Given the description of an element on the screen output the (x, y) to click on. 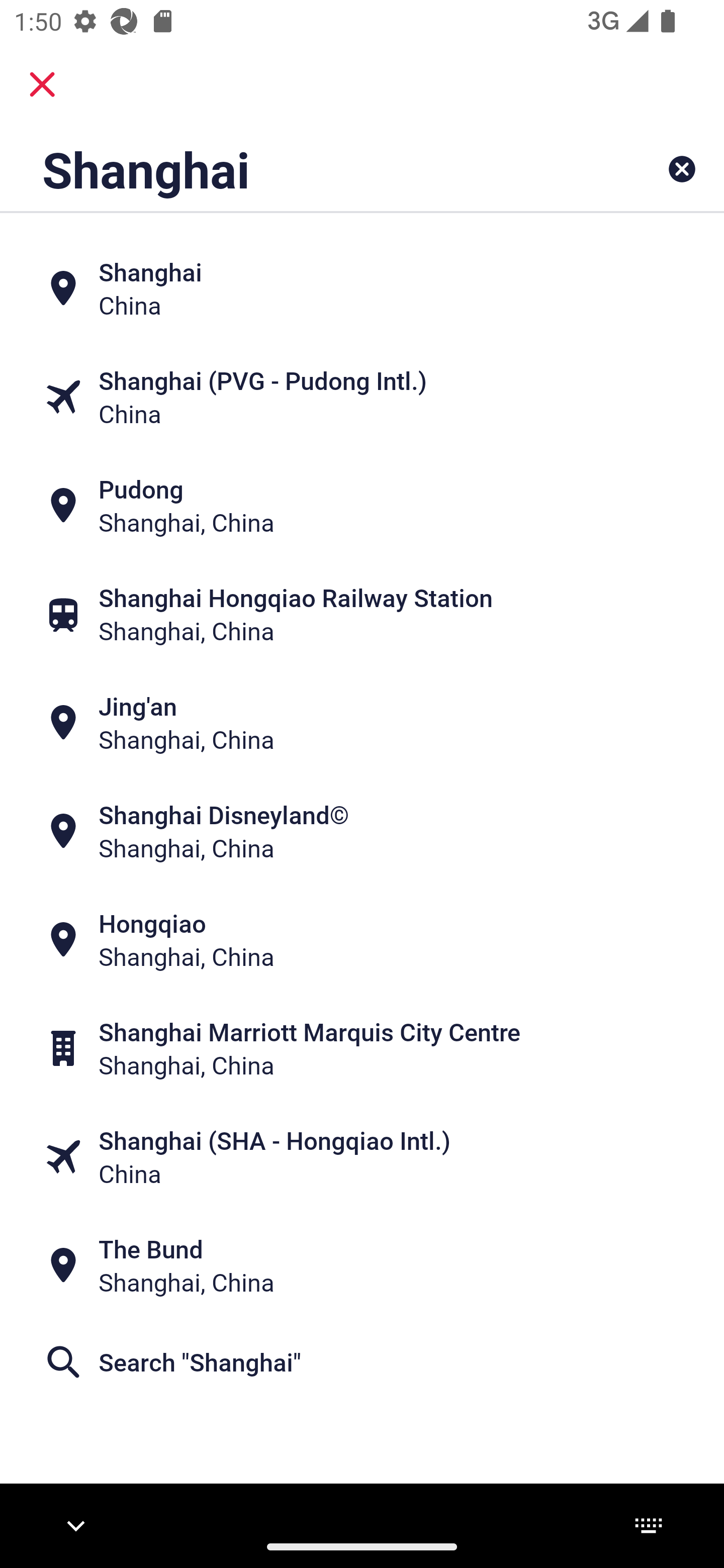
close. (42, 84)
Clear (681, 169)
Shanghai (298, 169)
Shanghai China (362, 288)
Shanghai (PVG - Pudong Intl.) China (362, 397)
Pudong Shanghai, China (362, 505)
Shanghai Hongqiao Railway Station Shanghai, China (362, 613)
Jing'an Shanghai, China (362, 722)
Shanghai Disneyland© Shanghai, China (362, 831)
Hongqiao Shanghai, China (362, 939)
Shanghai (SHA - Hongqiao Intl.) China (362, 1156)
The Bund Shanghai, China (362, 1265)
Search "Shanghai" (362, 1362)
